Given the description of an element on the screen output the (x, y) to click on. 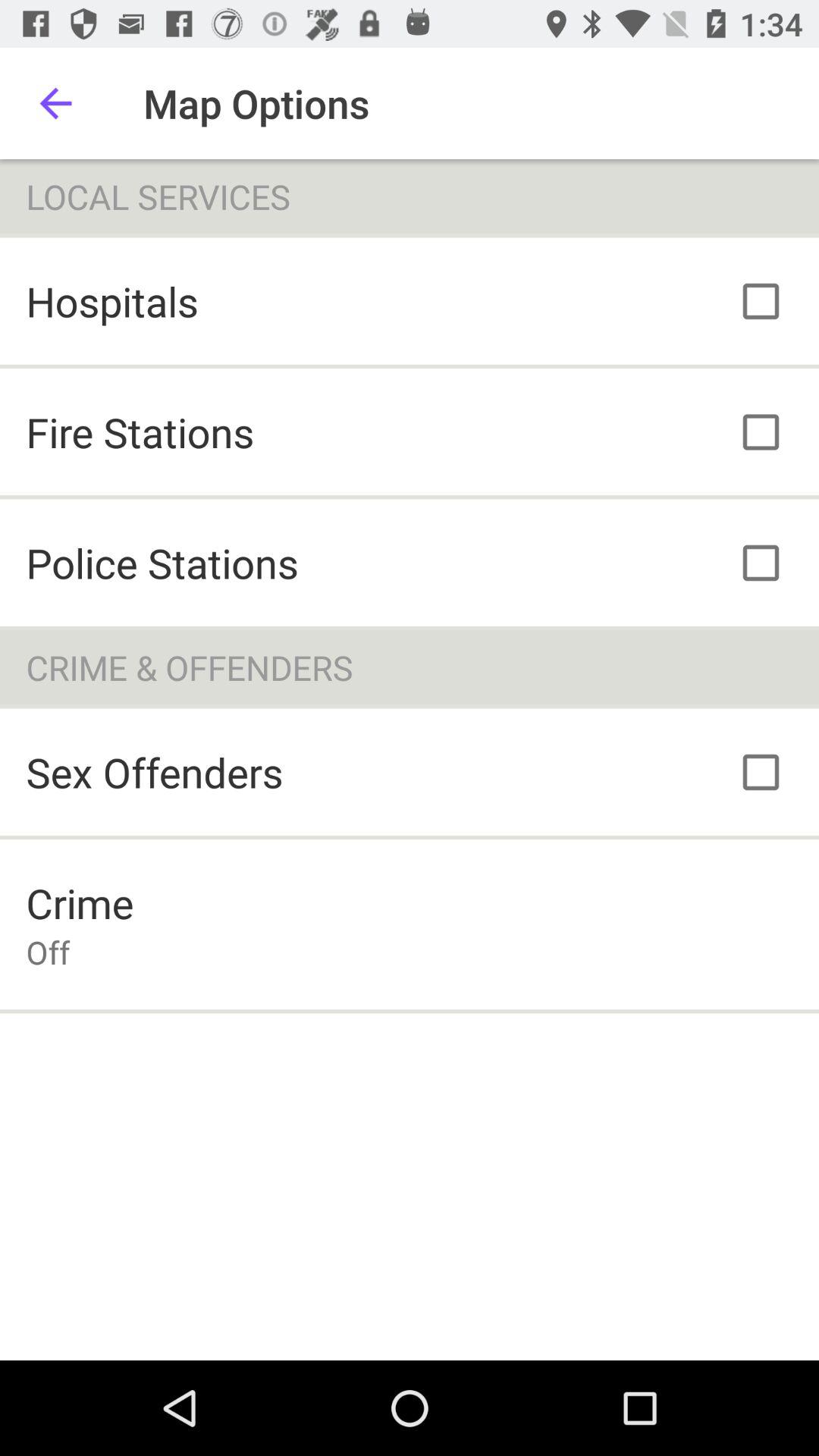
open the sex offenders item (154, 771)
